Given the description of an element on the screen output the (x, y) to click on. 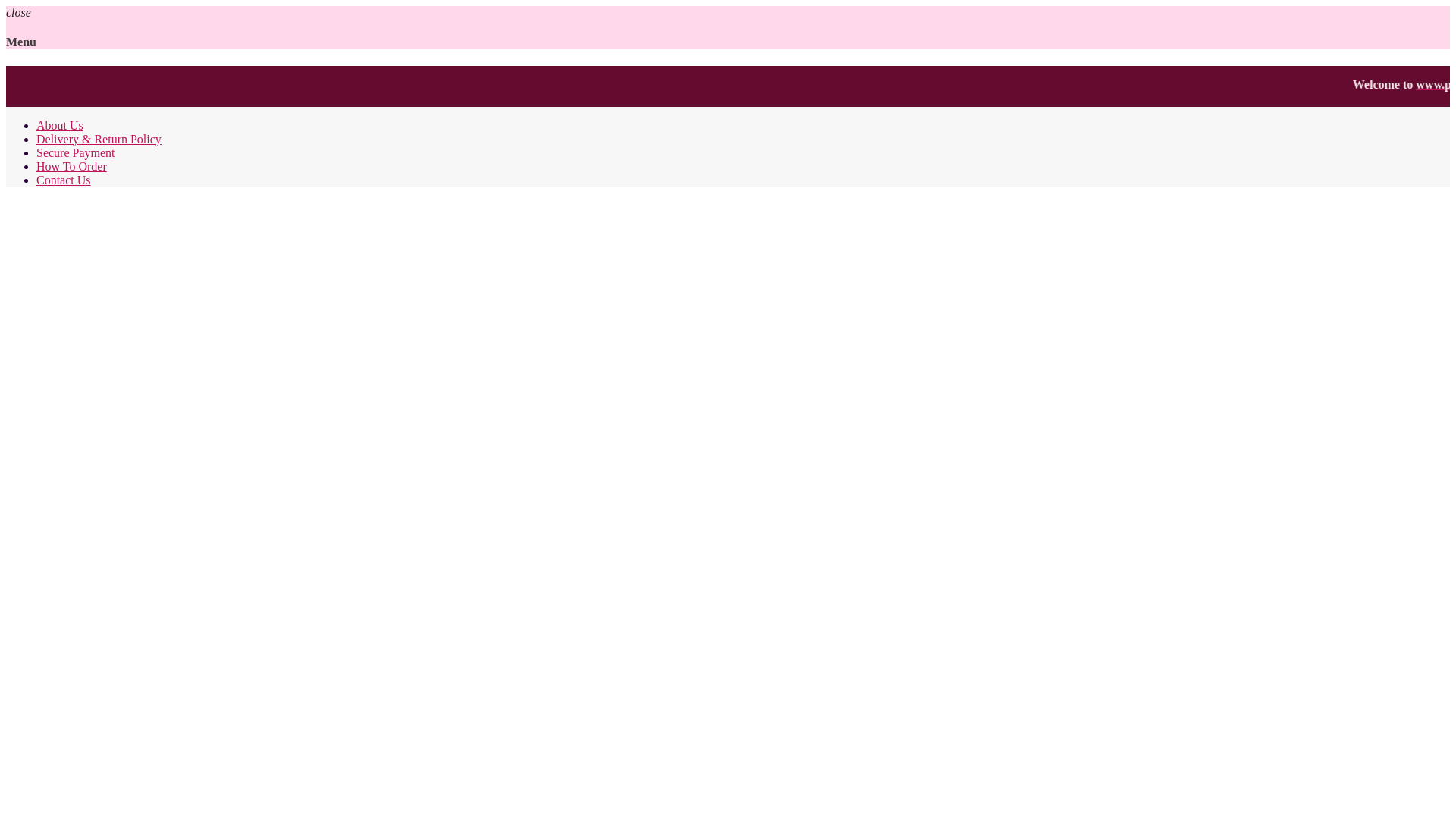
About Us (59, 124)
How To Order (71, 165)
Secure Payment (75, 152)
